Given the description of an element on the screen output the (x, y) to click on. 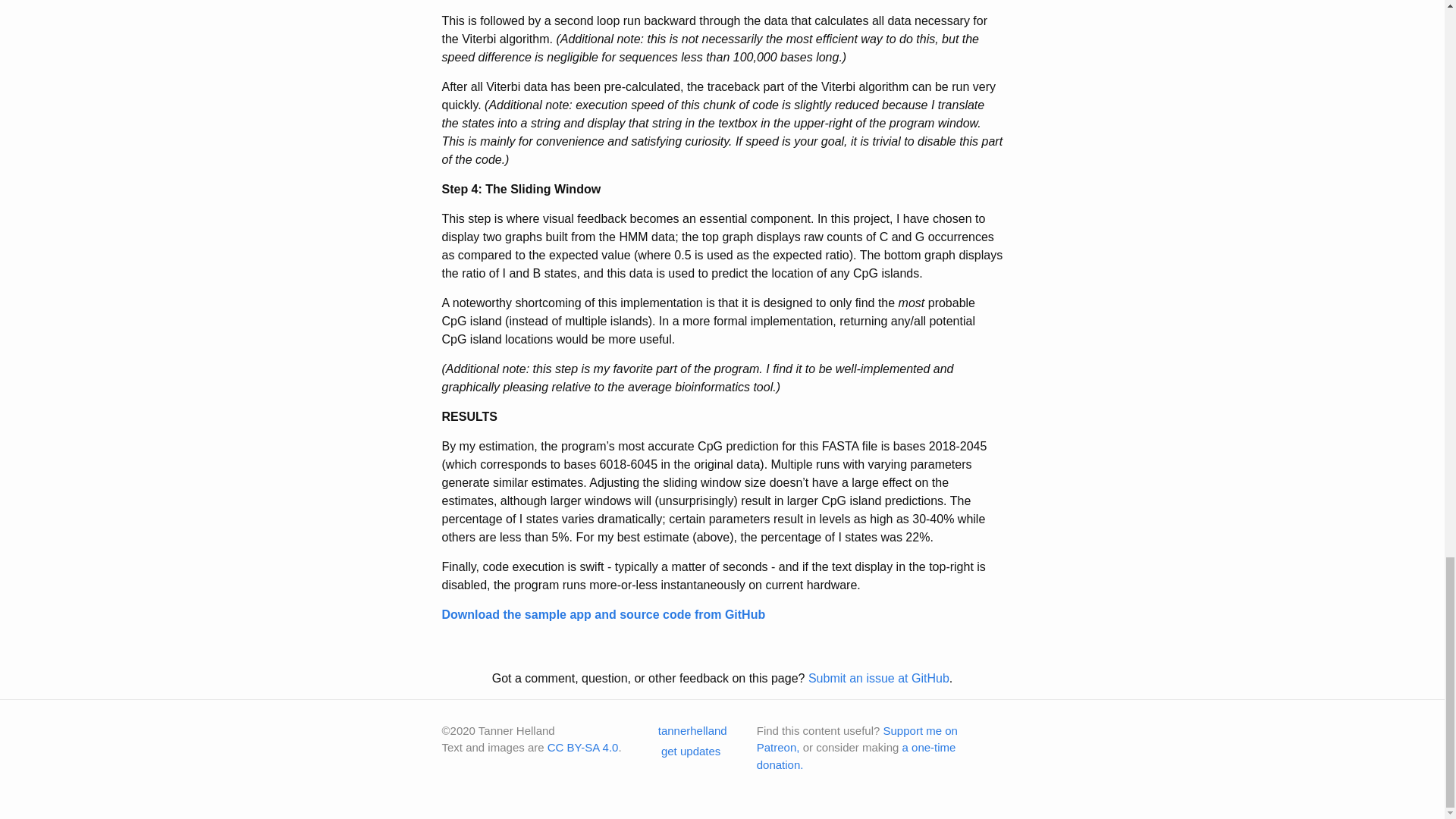
a one-time donation. (856, 756)
tannerhelland (684, 730)
get updates (681, 750)
Submit an issue at GitHub (878, 677)
Support me on Patreon, (857, 738)
CC BY-SA 4.0 (582, 747)
Download the sample app and source code from GitHub (603, 614)
